Given the description of an element on the screen output the (x, y) to click on. 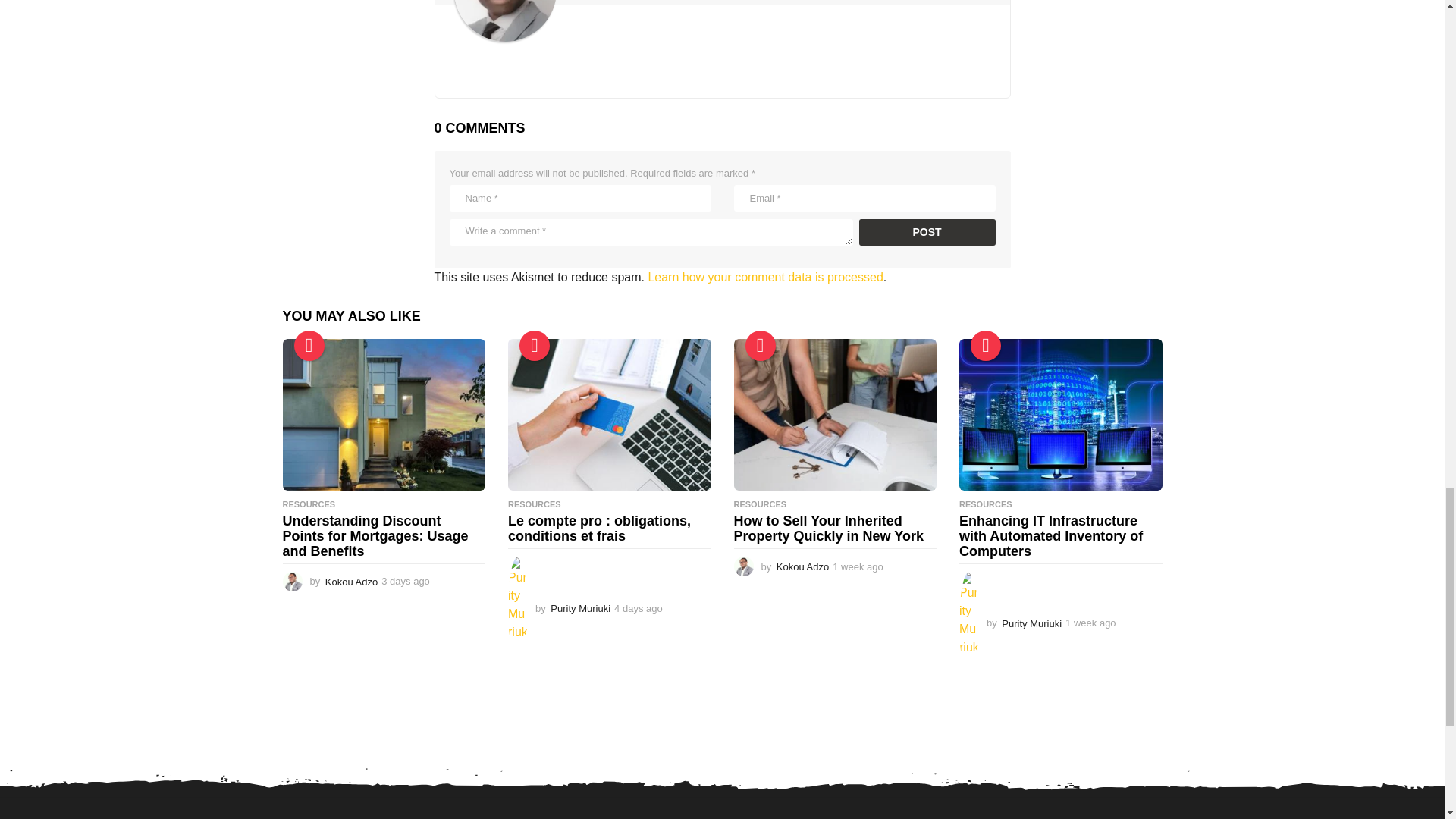
Post (926, 232)
Trending (534, 345)
Le compte pro : obligations, conditions et frais (609, 415)
Trending (309, 345)
Post (926, 232)
Hot (759, 345)
Learn how your comment data is processed (764, 277)
Hot (986, 345)
How to Sell Your Inherited Property Quickly in New York (835, 415)
